Given the description of an element on the screen output the (x, y) to click on. 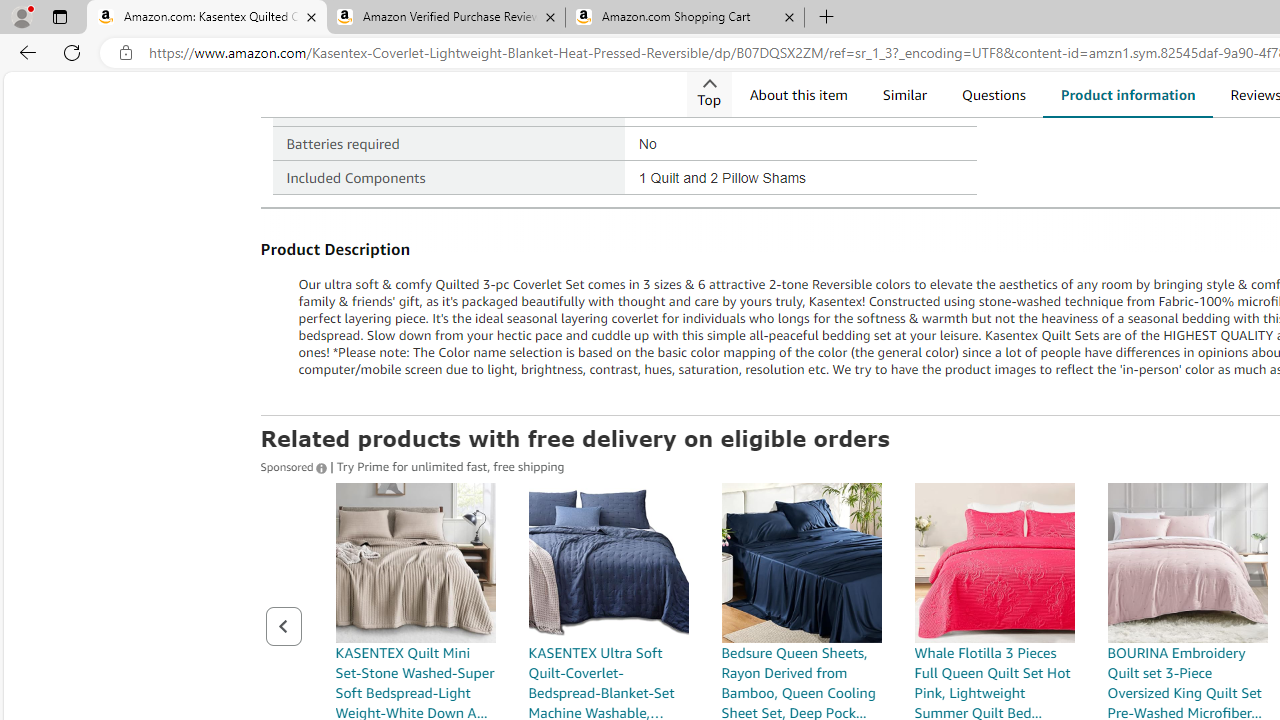
Top (709, 94)
Sponsored  (295, 465)
Amazon Verified Purchase Reviews - Amazon Customer Service (445, 17)
